Given the description of an element on the screen output the (x, y) to click on. 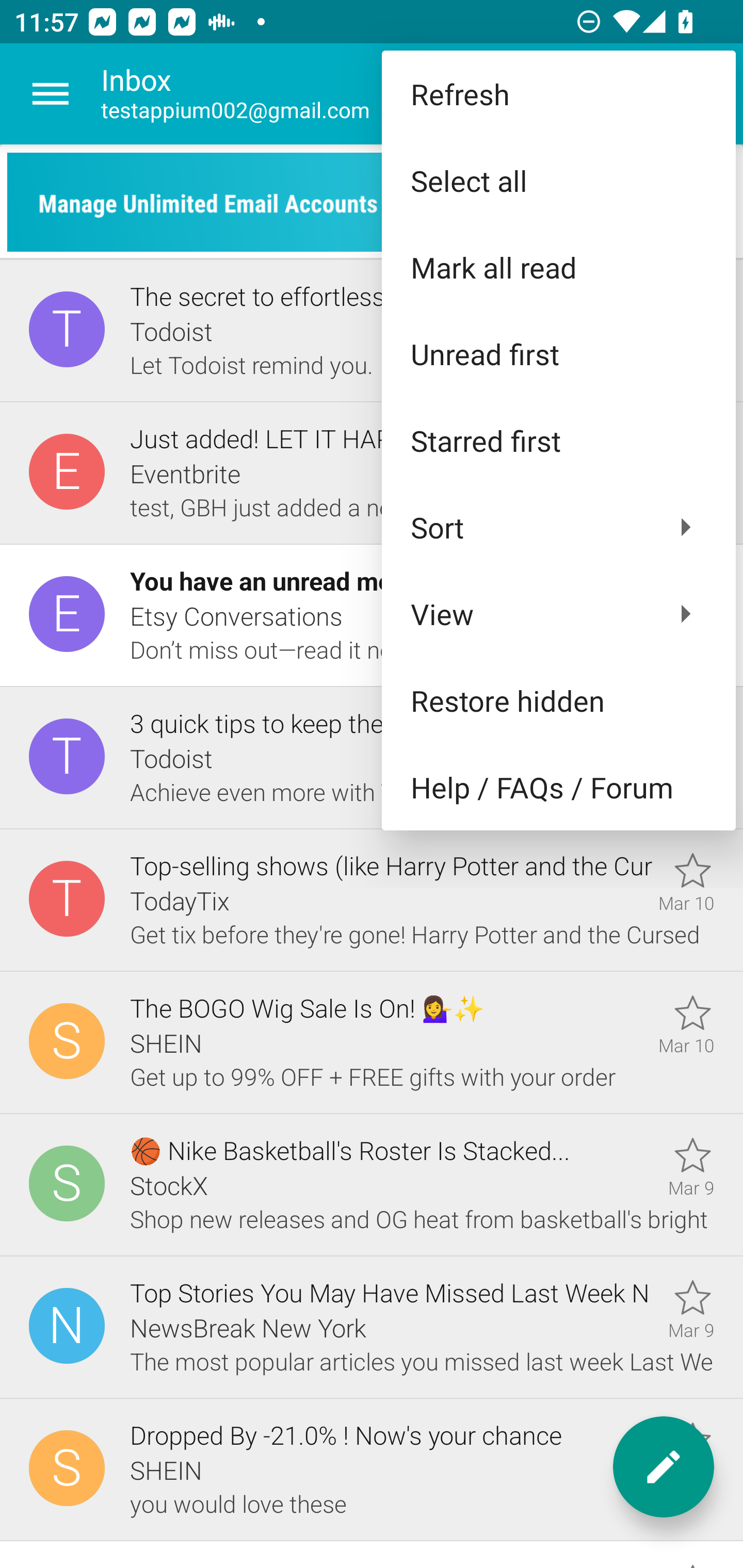
Refresh (558, 93)
Select all (558, 180)
Mark all read (558, 267)
Unread first (558, 353)
Starred first (558, 440)
Sort (558, 527)
View (558, 613)
Restore hidden (558, 699)
Help / FAQs / Forum (558, 787)
